Given the description of an element on the screen output the (x, y) to click on. 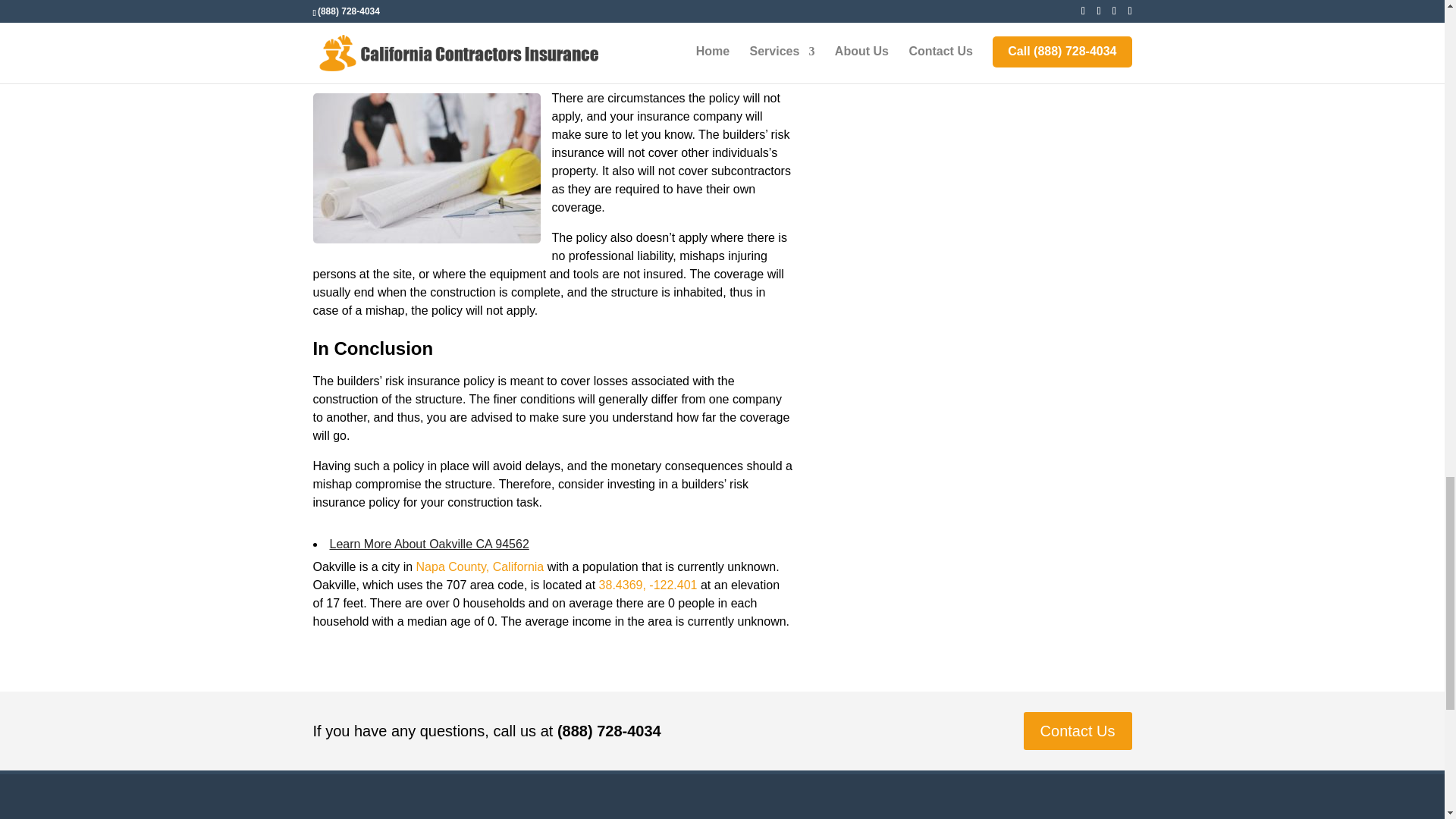
Learn More About Oakville CA 94562 (428, 543)
Napa County, California (480, 566)
Contact Us (1077, 730)
38.4369, -122.401 (647, 584)
